Given the description of an element on the screen output the (x, y) to click on. 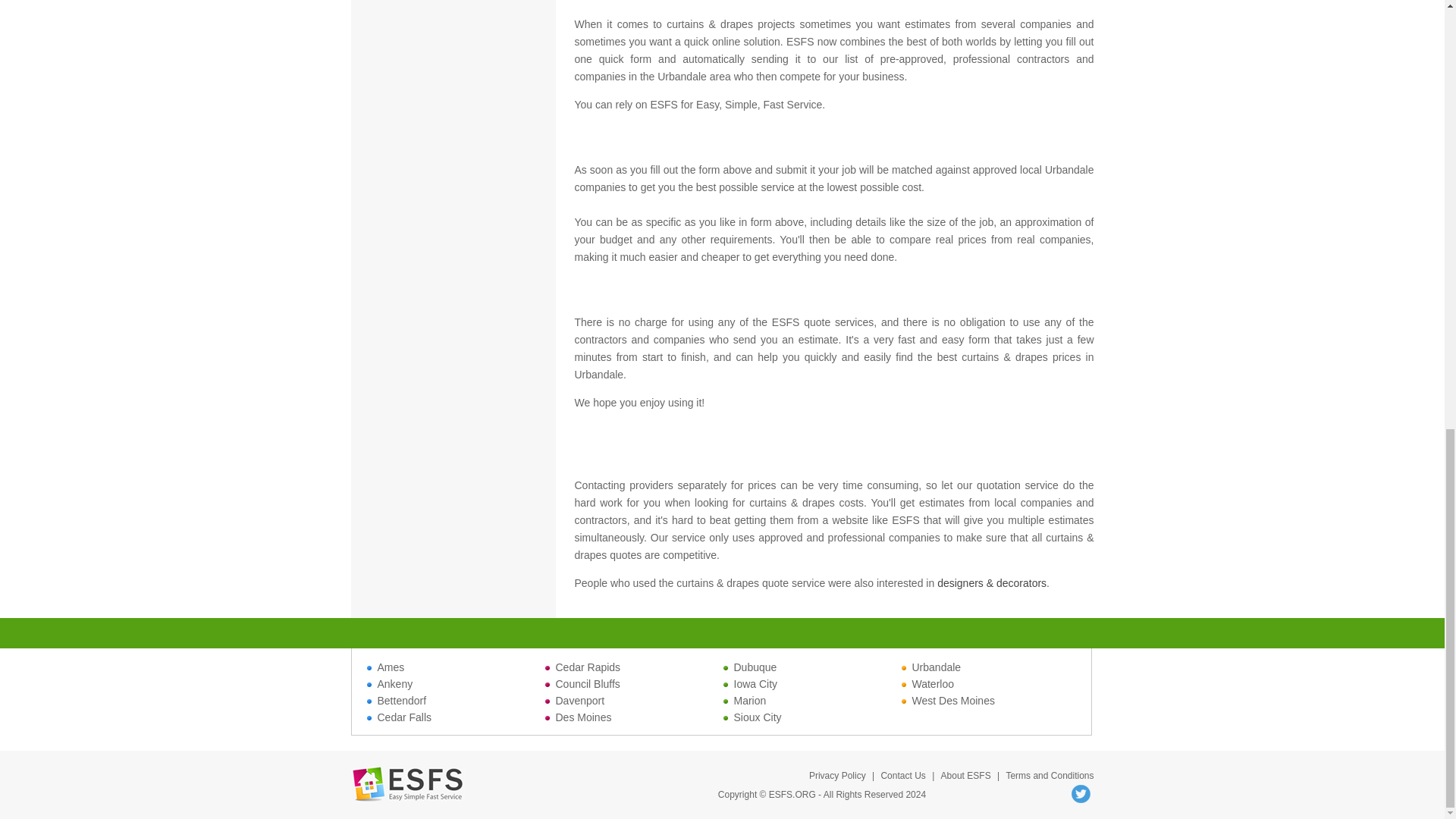
Ames (385, 666)
Cedar Rapids (582, 666)
Des Moines (577, 717)
Dubuque (750, 666)
Council Bluffs (582, 684)
West Des Moines (947, 700)
Sioux City (752, 717)
Cedar Falls (399, 717)
Ankeny (389, 684)
Iowa City (750, 684)
